Given the description of an element on the screen output the (x, y) to click on. 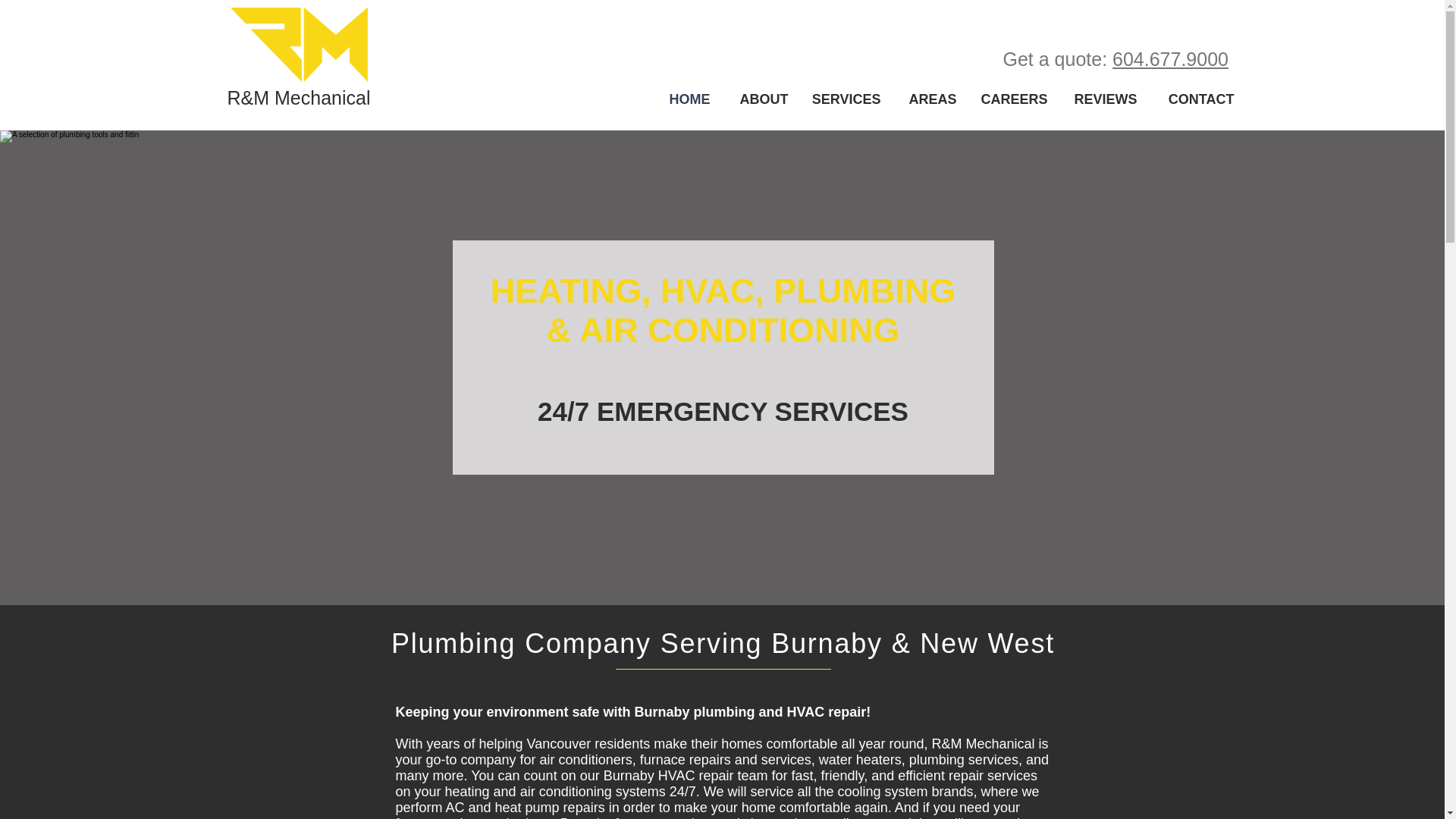
604.677.9000 (1170, 58)
SERVICES (845, 98)
CONTACT (1196, 98)
HOME (683, 98)
ABOUT (760, 98)
AREAS (929, 98)
REVIEWS (1103, 98)
CAREERS (1013, 98)
